Given the description of an element on the screen output the (x, y) to click on. 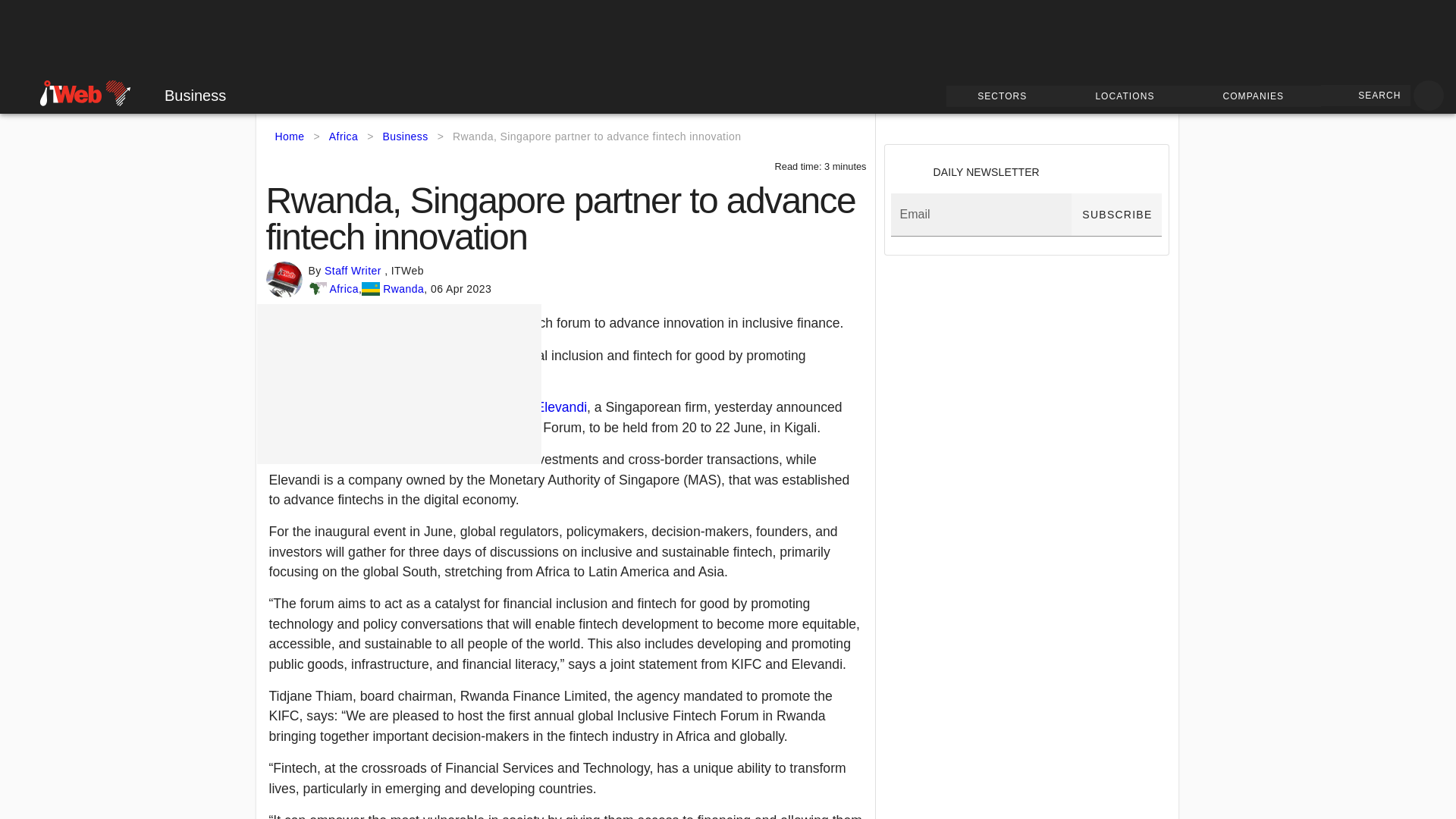
Business (404, 136)
Rwanda (402, 289)
SOUTH AFRICA (53, 90)
SECTORS (1005, 96)
Elevandi (561, 406)
Africa (343, 289)
Business (183, 95)
Africa (343, 136)
LOCATIONS (1127, 96)
COMPANIES (1255, 96)
